Given the description of an element on the screen output the (x, y) to click on. 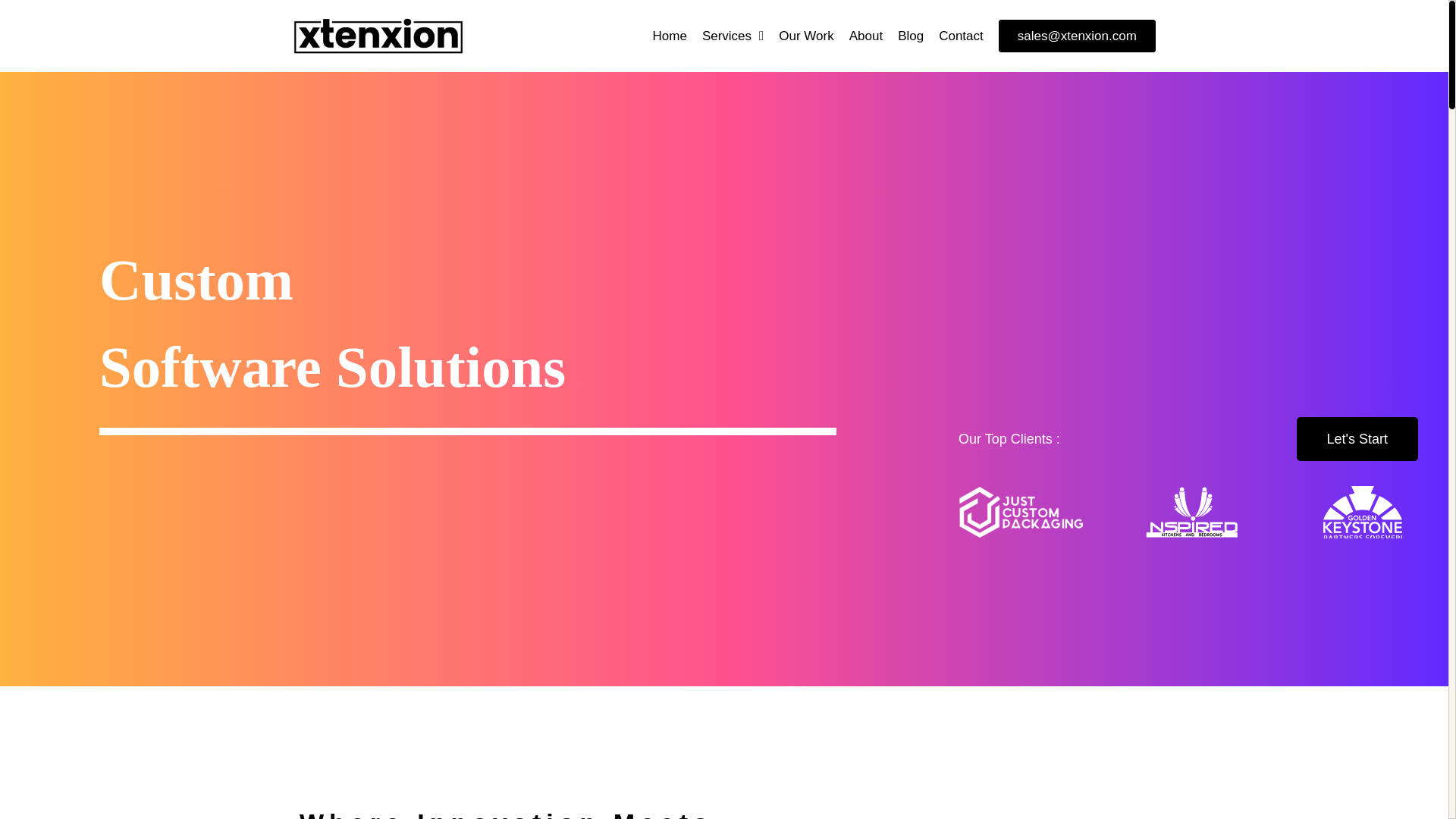
Home 2 (1191, 512)
Services (732, 36)
Blog (910, 36)
Let's Start (1357, 438)
Our Work (806, 36)
Home 3 (1362, 512)
Home (669, 36)
About (865, 36)
Contact (961, 36)
Home 1 (1021, 512)
